Given the description of an element on the screen output the (x, y) to click on. 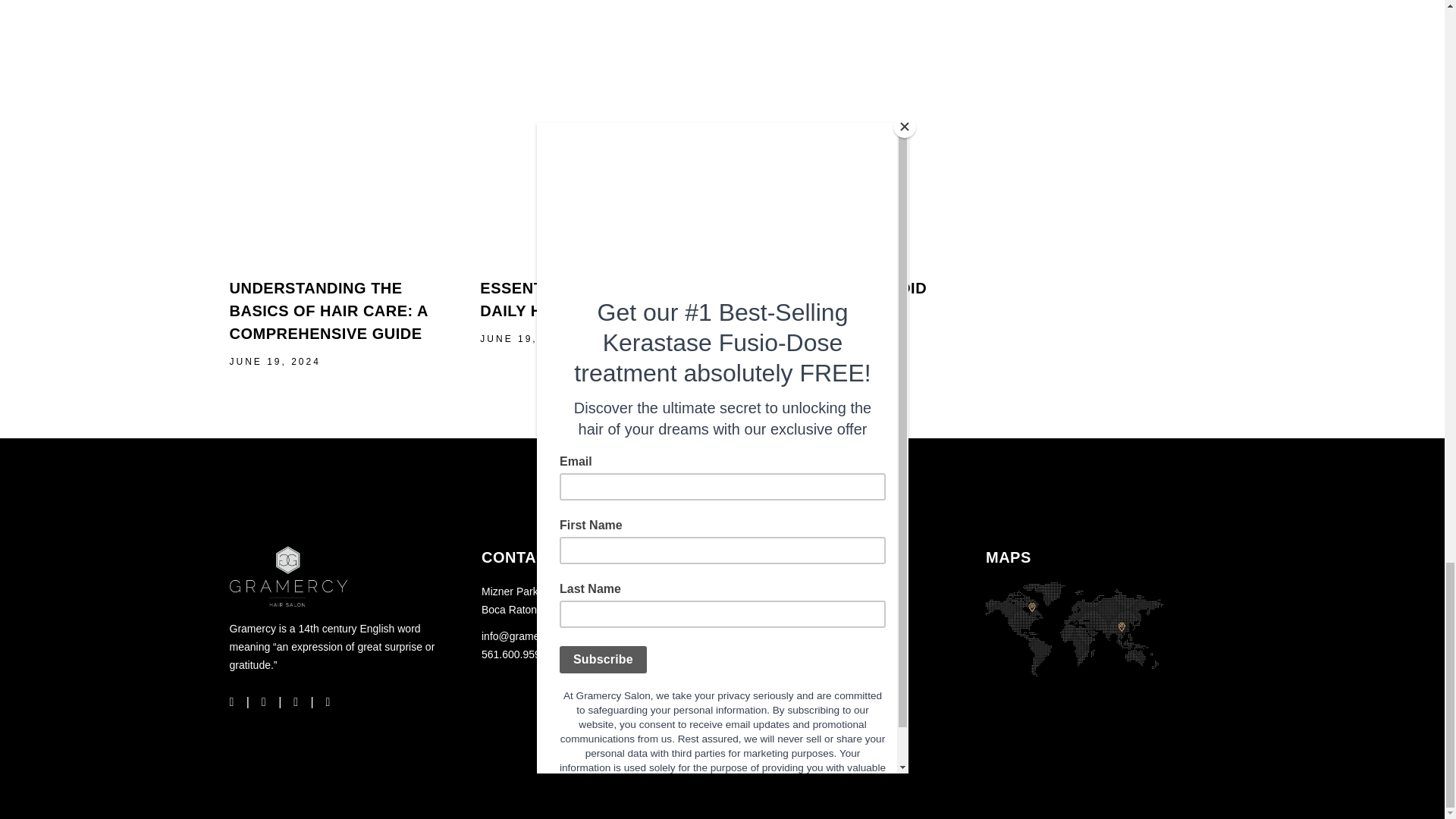
Understanding the Basics of Hair Care: A Comprehensive Guide (342, 139)
Essential Products for Daily Hair Care Routine (593, 139)
Top Mistakes to Avoid for Healthy Hair Maintenance (844, 139)
Top Mistakes to Avoid for Healthy Hair Maintenance (828, 311)
Understanding the Basics of Hair Care: A Comprehensive Guide (328, 311)
Essential Products for Daily Hair Care Routine (589, 299)
